Given the description of an element on the screen output the (x, y) to click on. 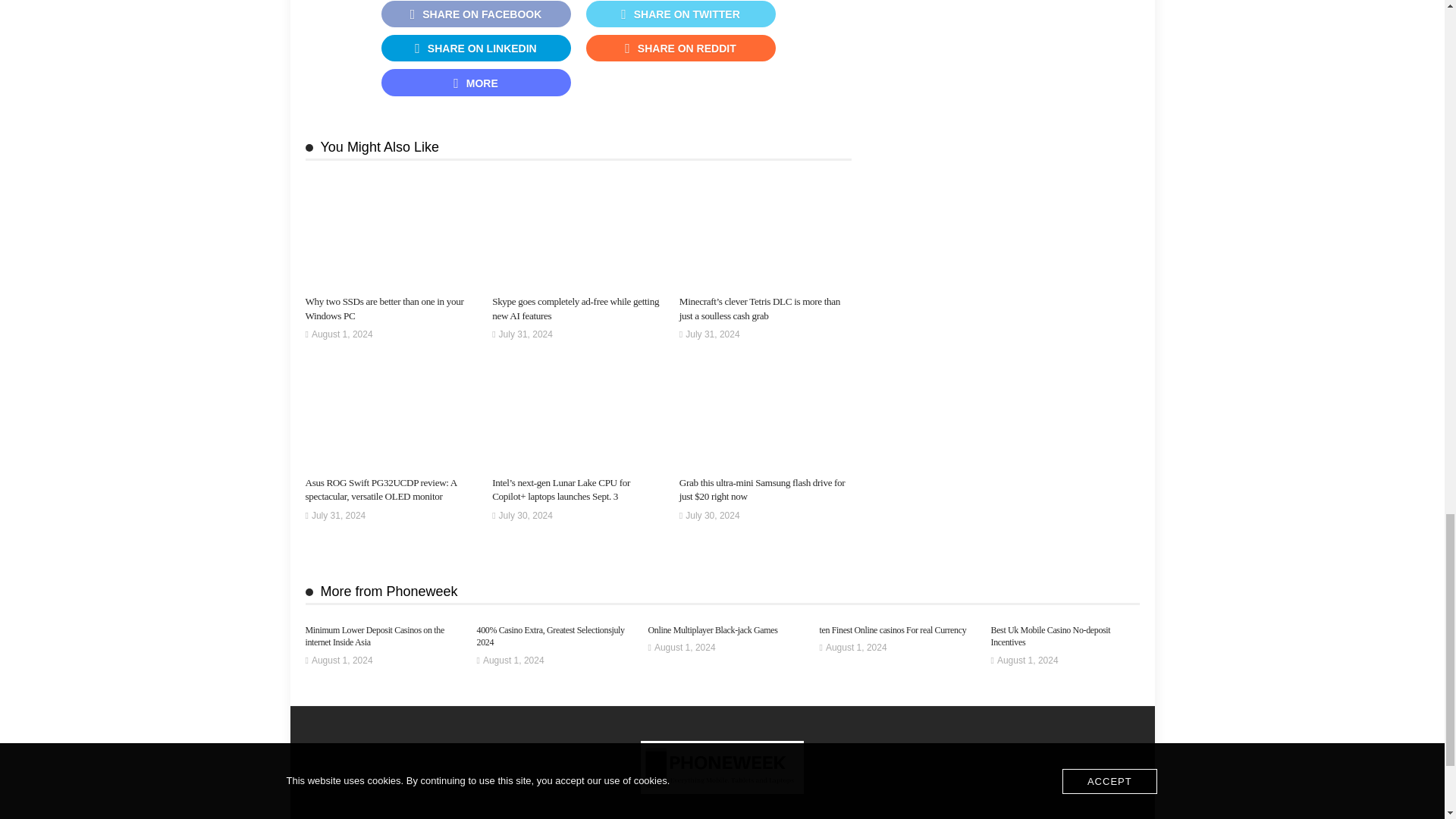
Skype goes completely ad-free while getting new AI features (575, 308)
SHARE ON FACEBOOK (475, 13)
Why two SSDs are better than one in your Windows PC (383, 308)
SHARE ON TWITTER (679, 13)
